Given the description of an element on the screen output the (x, y) to click on. 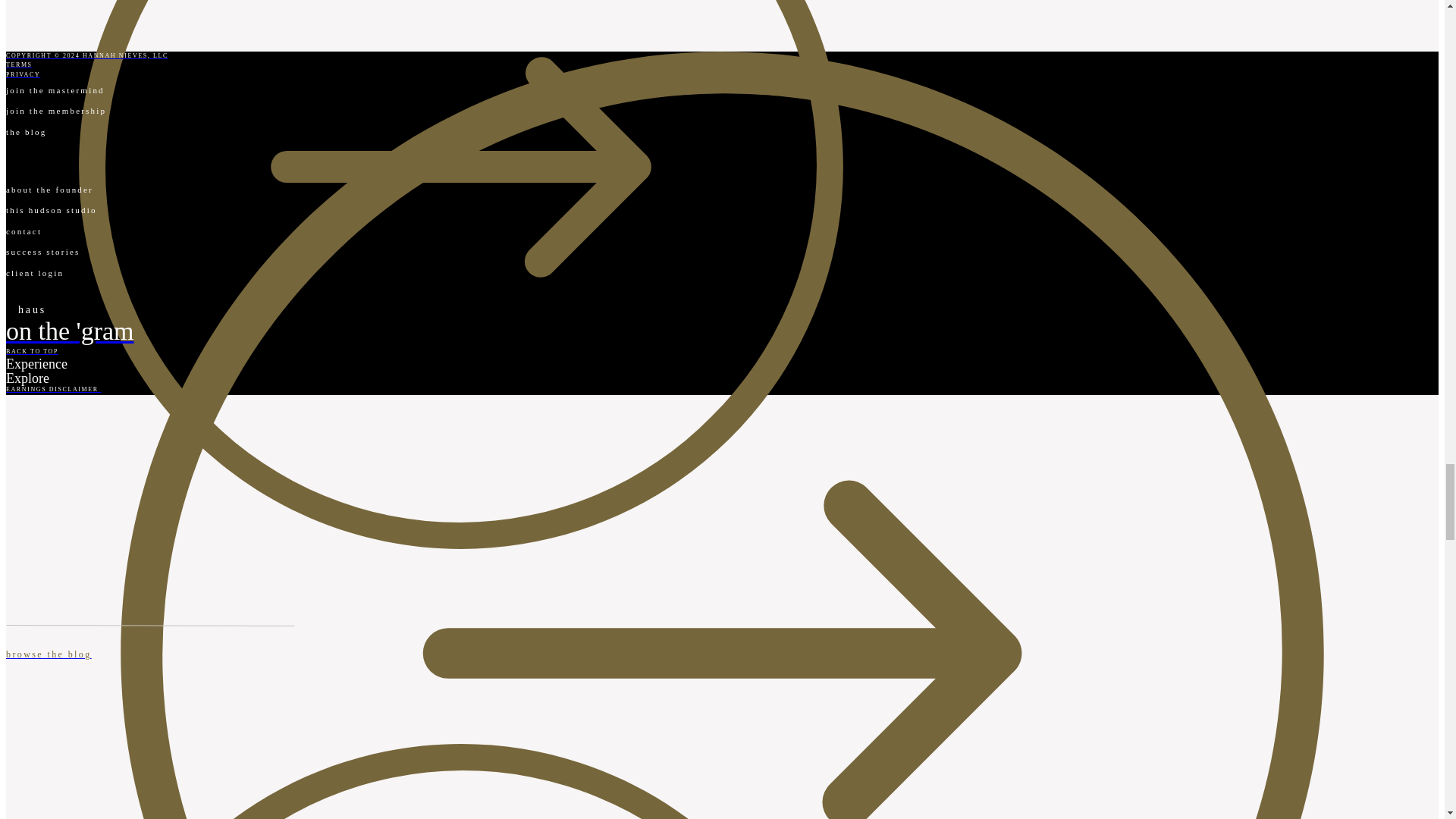
browse the blog (460, 665)
